Given the description of an element on the screen output the (x, y) to click on. 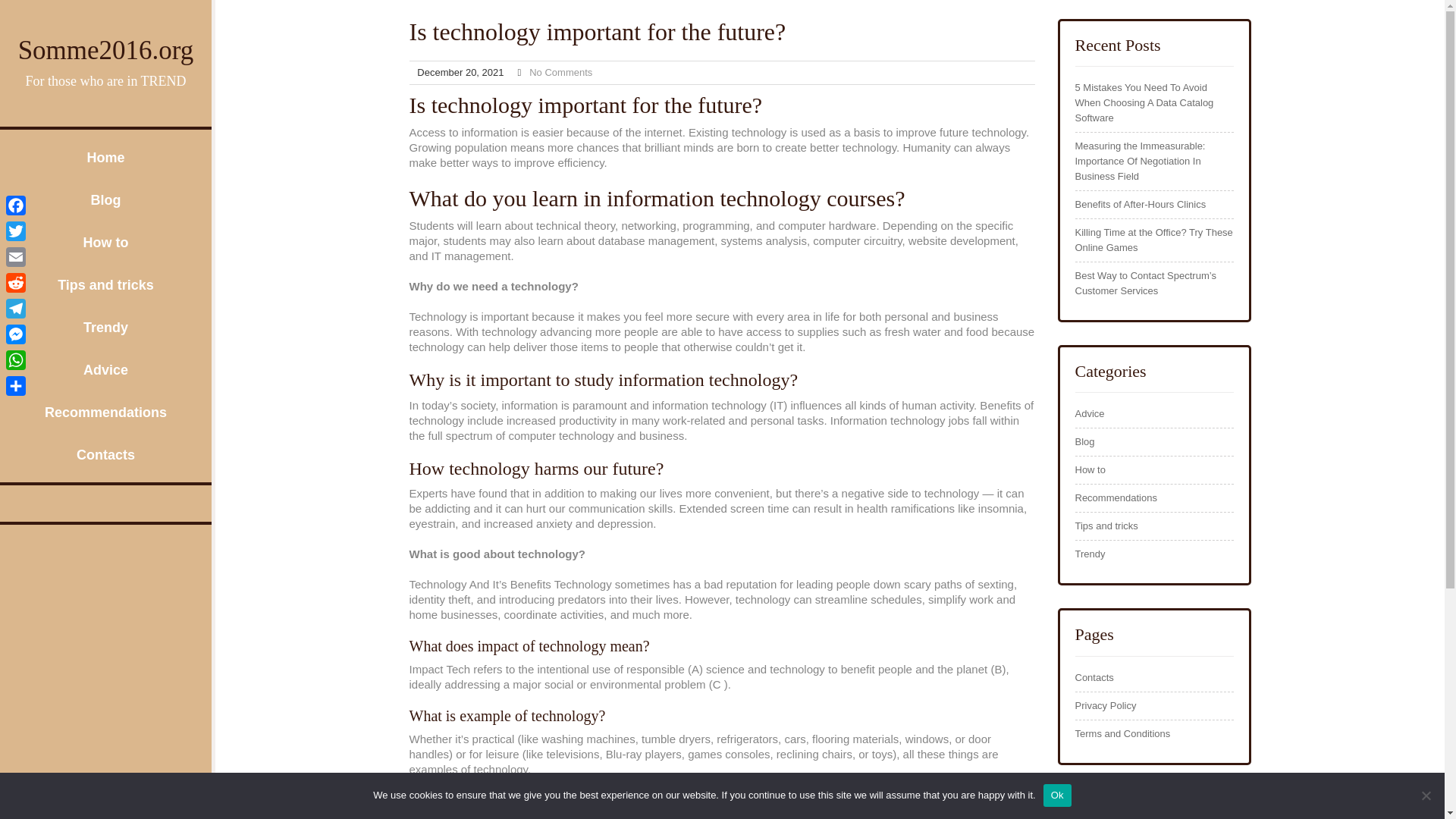
Recommendations (105, 412)
Killing Time at the Office? Try These Online Games (1154, 240)
Twitter (15, 231)
Reddit (15, 282)
Email (15, 257)
No Comments (560, 71)
Advice (1090, 413)
Telegram (15, 308)
